Given the description of an element on the screen output the (x, y) to click on. 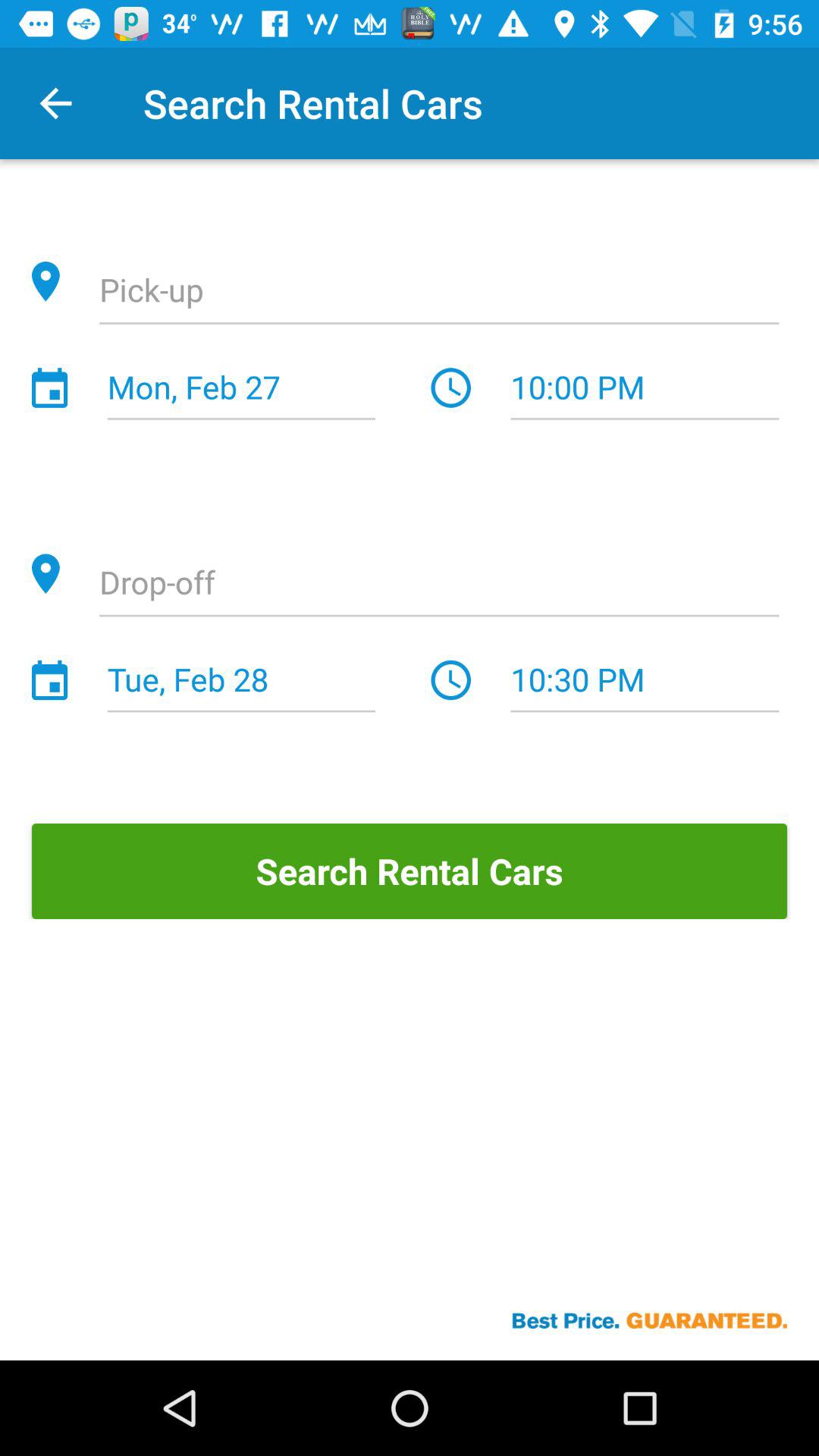
turn on item above tue, feb 28 icon (439, 584)
